Given the description of an element on the screen output the (x, y) to click on. 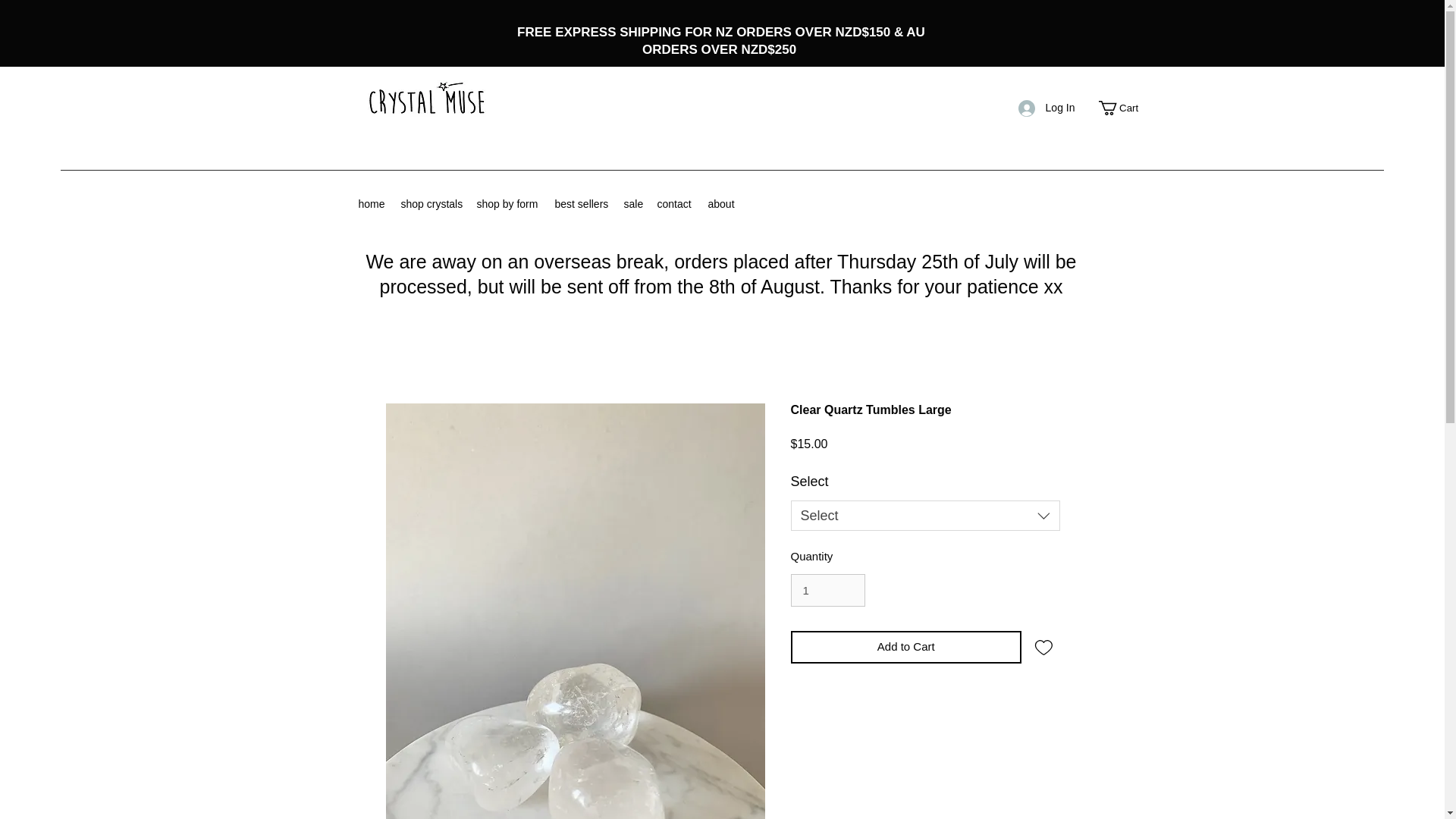
Cart (1125, 107)
1 (827, 590)
Cart (1125, 107)
shop crystals (430, 203)
home (371, 203)
Log In (1046, 108)
